Given the description of an element on the screen output the (x, y) to click on. 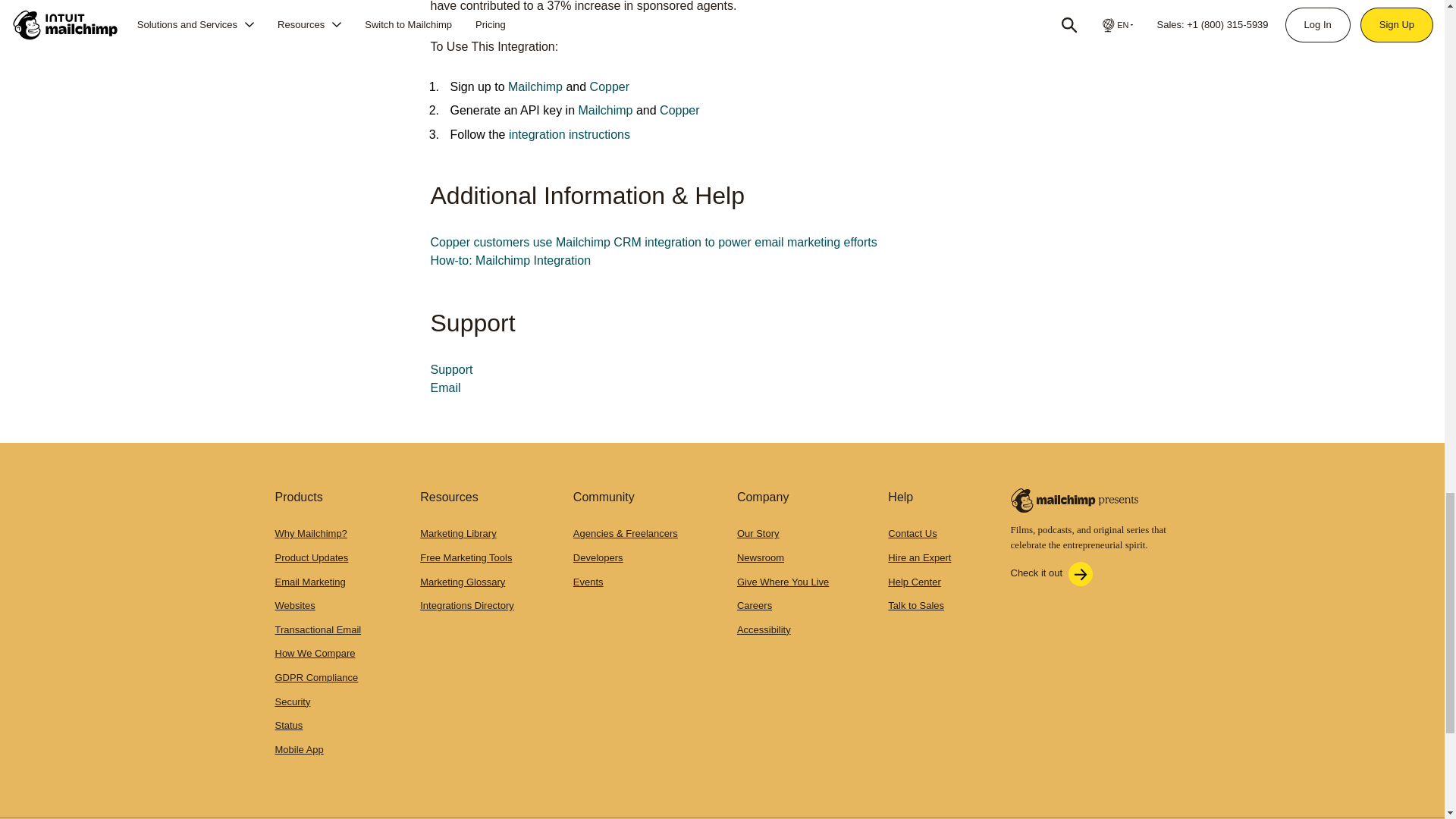
Mailchimp (604, 110)
Support (451, 369)
How-to: Mailchimp Integration (510, 259)
integration instructions (569, 133)
Product Updates (311, 557)
Mailchimp (535, 86)
Copper (608, 86)
Why Mailchimp? (310, 532)
Email (445, 387)
Copper (678, 110)
